Given the description of an element on the screen output the (x, y) to click on. 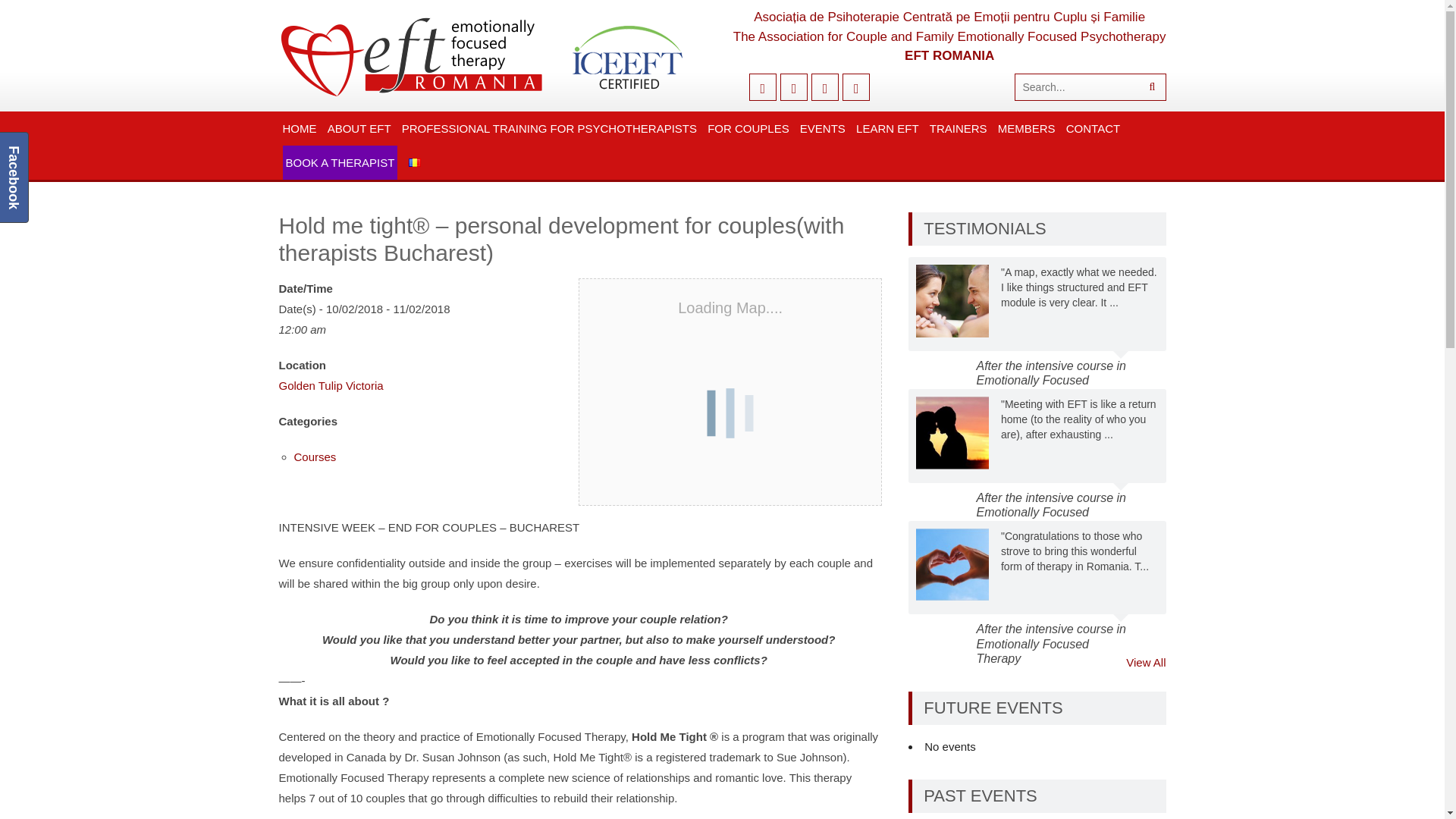
BOOK A THERAPIST (340, 162)
Schedule a therapist at EFTHUB.RO !!! (340, 162)
MEMBERS (1026, 128)
LEARN EFT (887, 128)
EVENTS (822, 128)
View All (1145, 661)
Facebook (762, 85)
FOR COUPLES (748, 128)
ABOUT EFT (358, 128)
Vimeo (856, 85)
HOME (299, 128)
Twitter (794, 85)
Courses (315, 456)
TRAINERS (958, 128)
CONTACT (1093, 128)
